Given the description of an element on the screen output the (x, y) to click on. 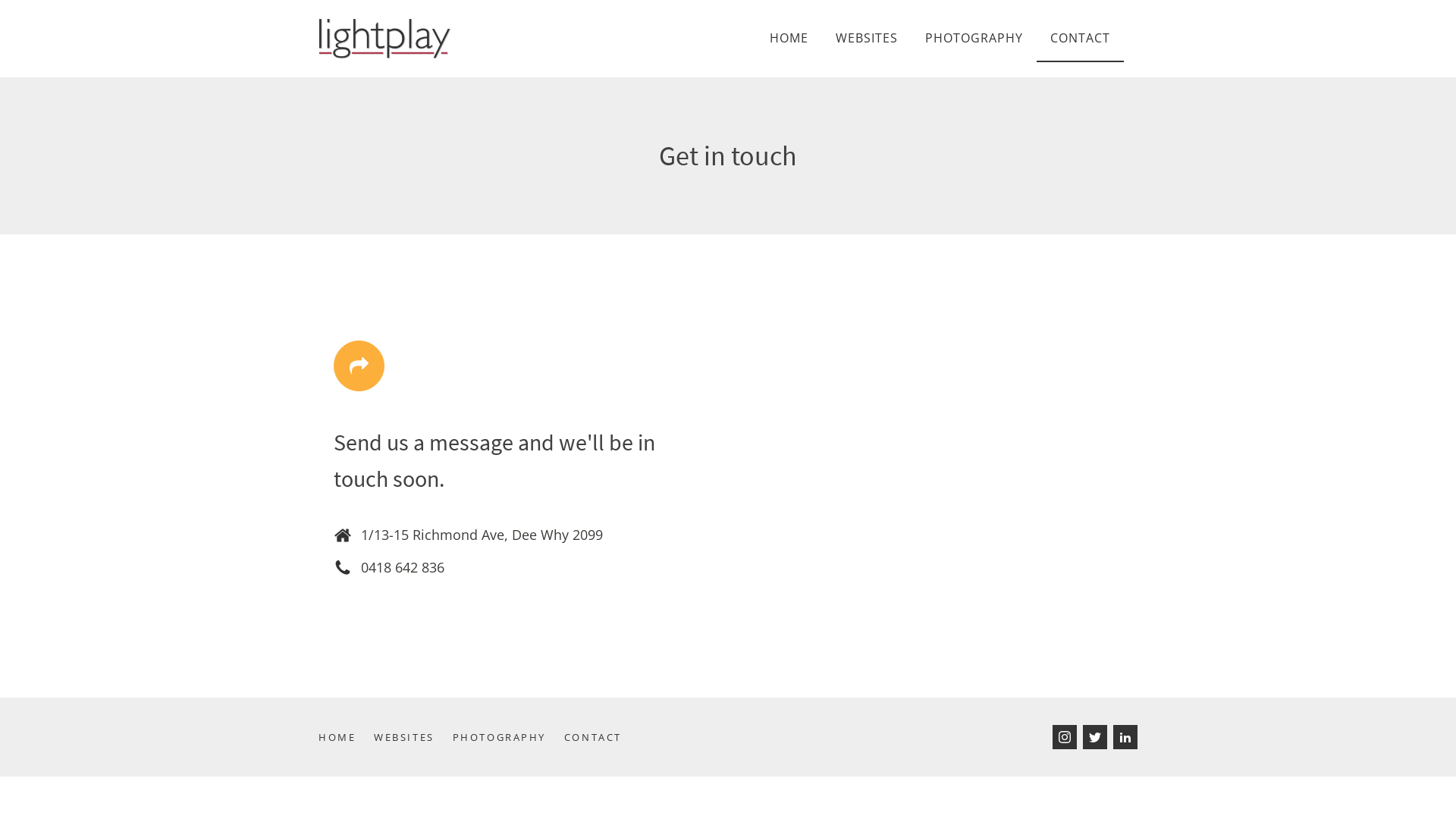
WEBSITES Element type: text (412, 736)
WEBSITES Element type: text (866, 38)
PHOTOGRAPHY Element type: text (973, 38)
PHOTOGRAPHY Element type: text (508, 736)
CONTACT Element type: text (602, 736)
HOME Element type: text (789, 38)
CONTACT Element type: text (1079, 38)
HOME Element type: text (345, 736)
